Given the description of an element on the screen output the (x, y) to click on. 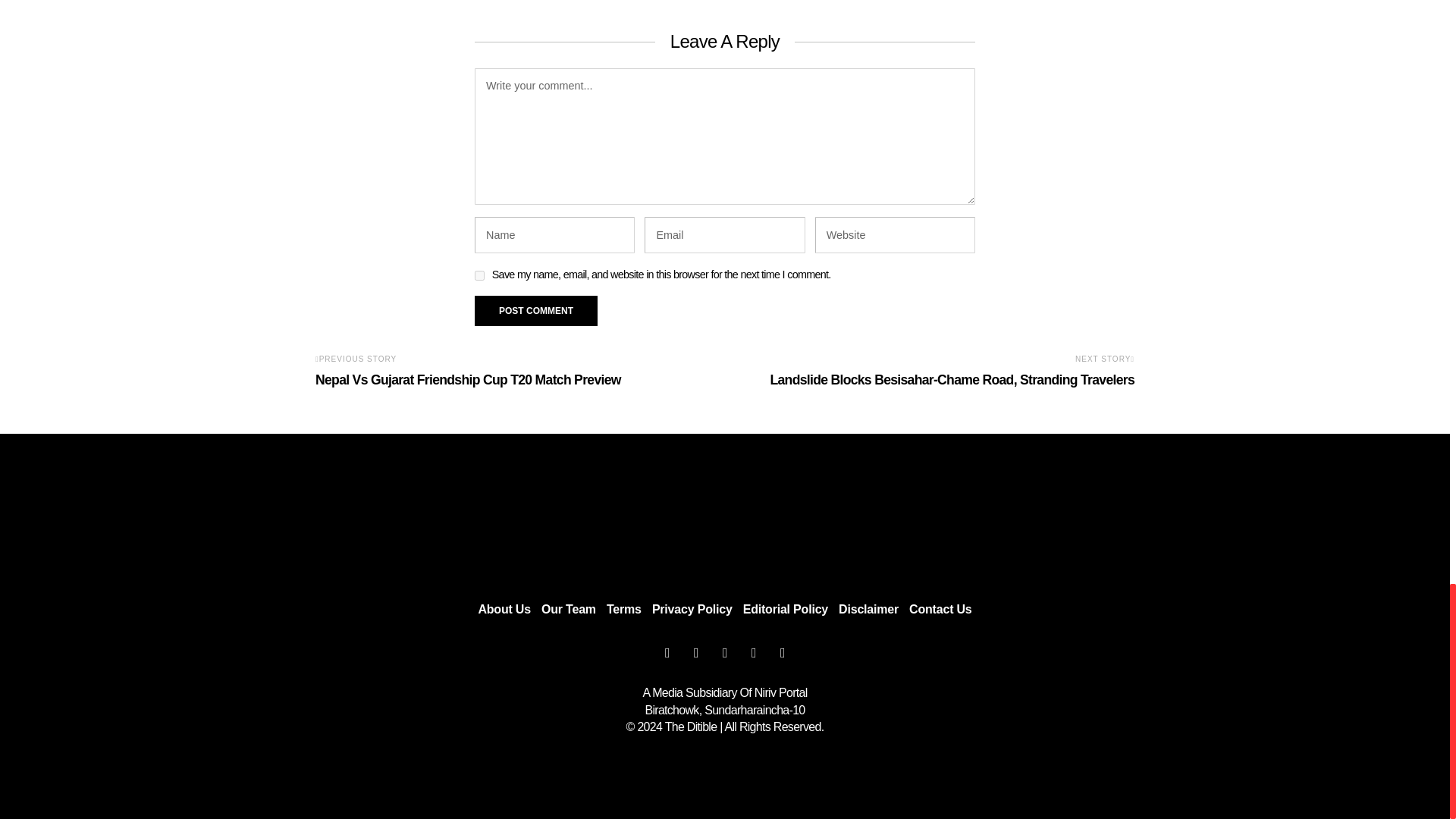
yes (479, 275)
Post Comment (535, 310)
